Given the description of an element on the screen output the (x, y) to click on. 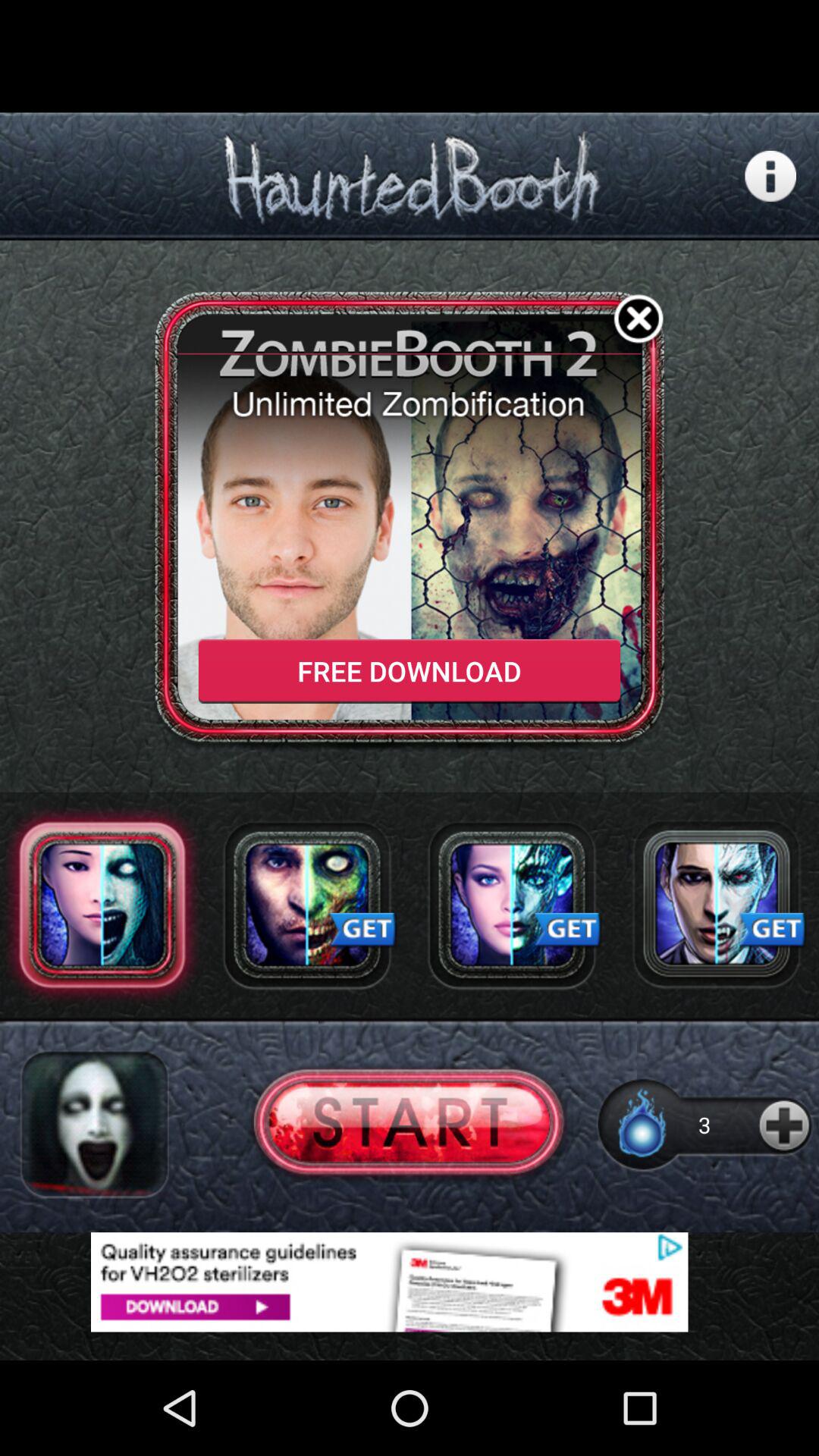
different style selection (716, 904)
